Given the description of an element on the screen output the (x, y) to click on. 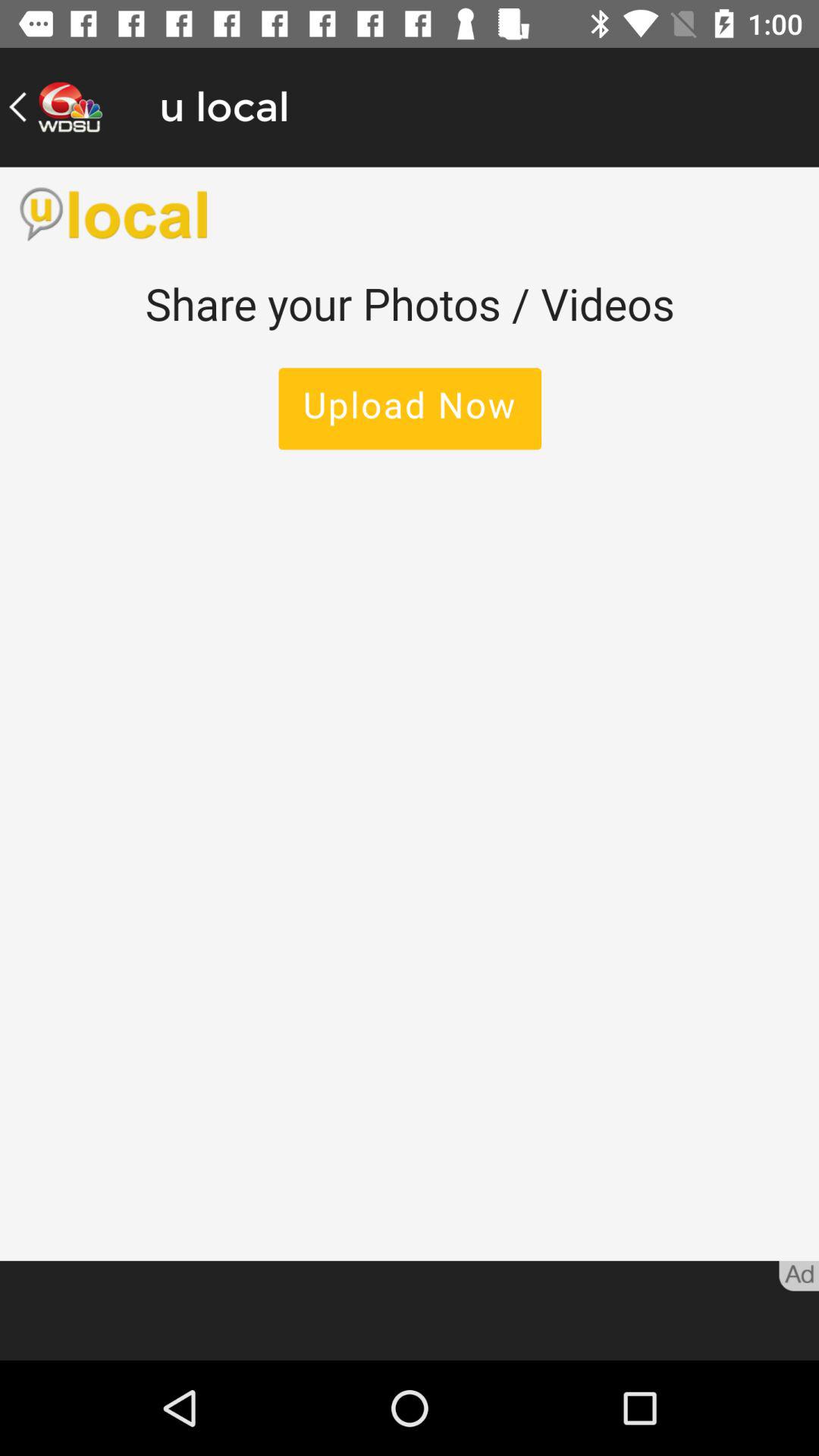
share (409, 713)
